Given the description of an element on the screen output the (x, y) to click on. 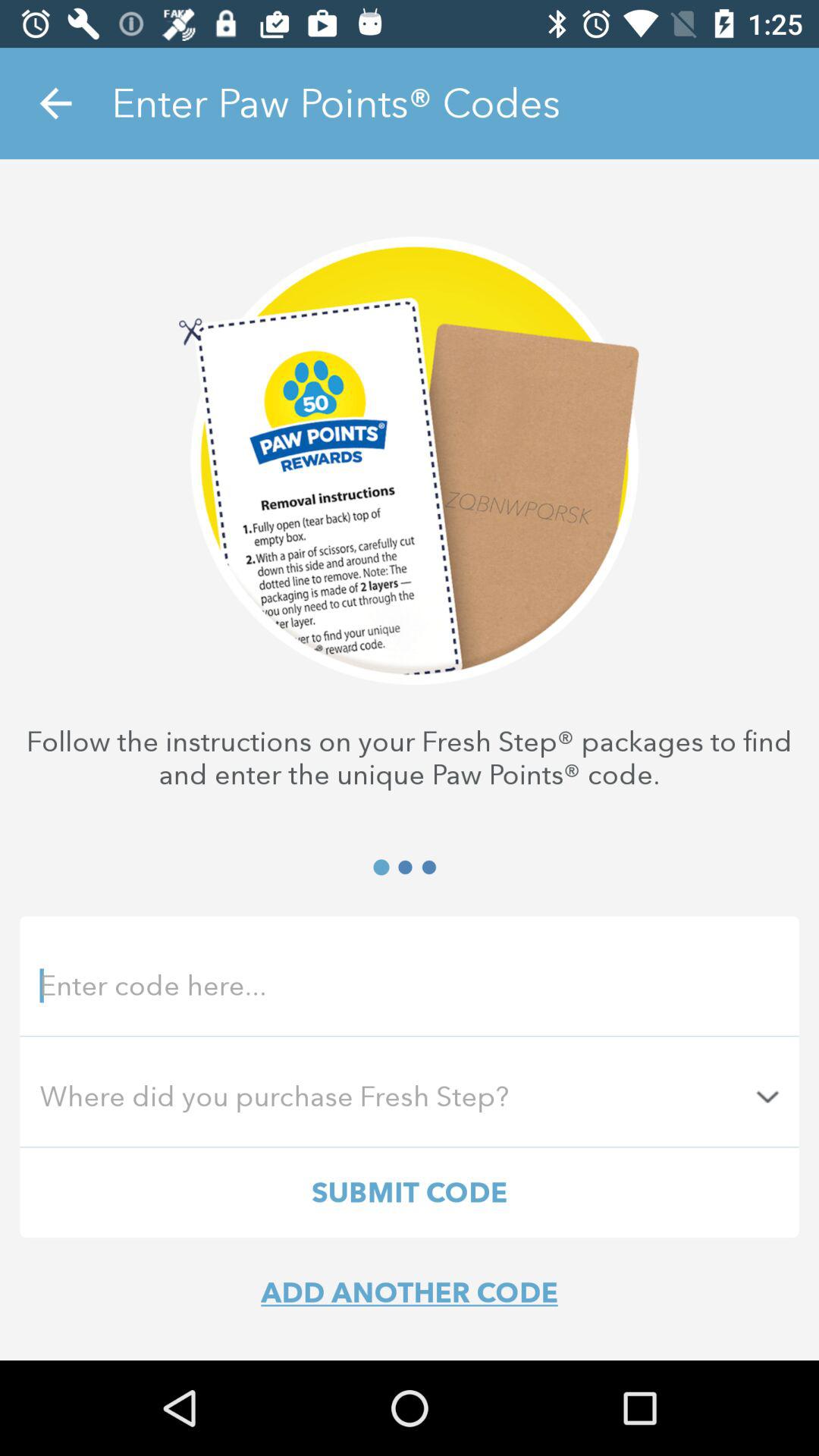
turn off the submit code icon (409, 1192)
